Given the description of an element on the screen output the (x, y) to click on. 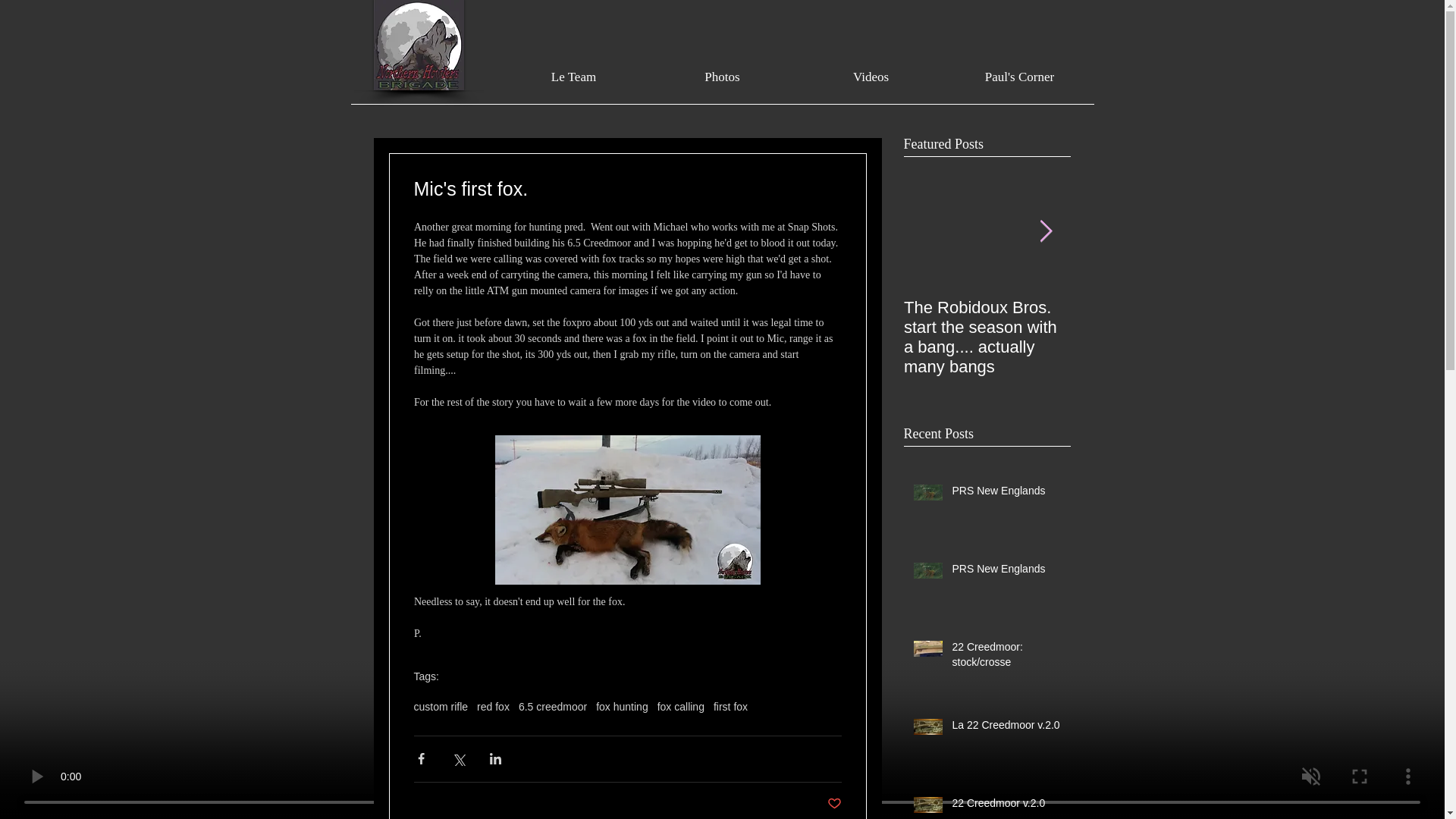
PRS New Englands (1006, 494)
22 Creedmoor v.2.0 (1006, 806)
Videos (870, 76)
Paul's Corner (1018, 76)
fox calling (681, 706)
Le Team (573, 76)
6.5 creedmoor (552, 706)
Post not marked as liked (834, 804)
Photos (721, 76)
La 22 Creedmoor v.2.0 (1006, 728)
red fox (493, 706)
PRS New Englands (1006, 572)
home (424, 76)
custom rifle (440, 706)
